Given the description of an element on the screen output the (x, y) to click on. 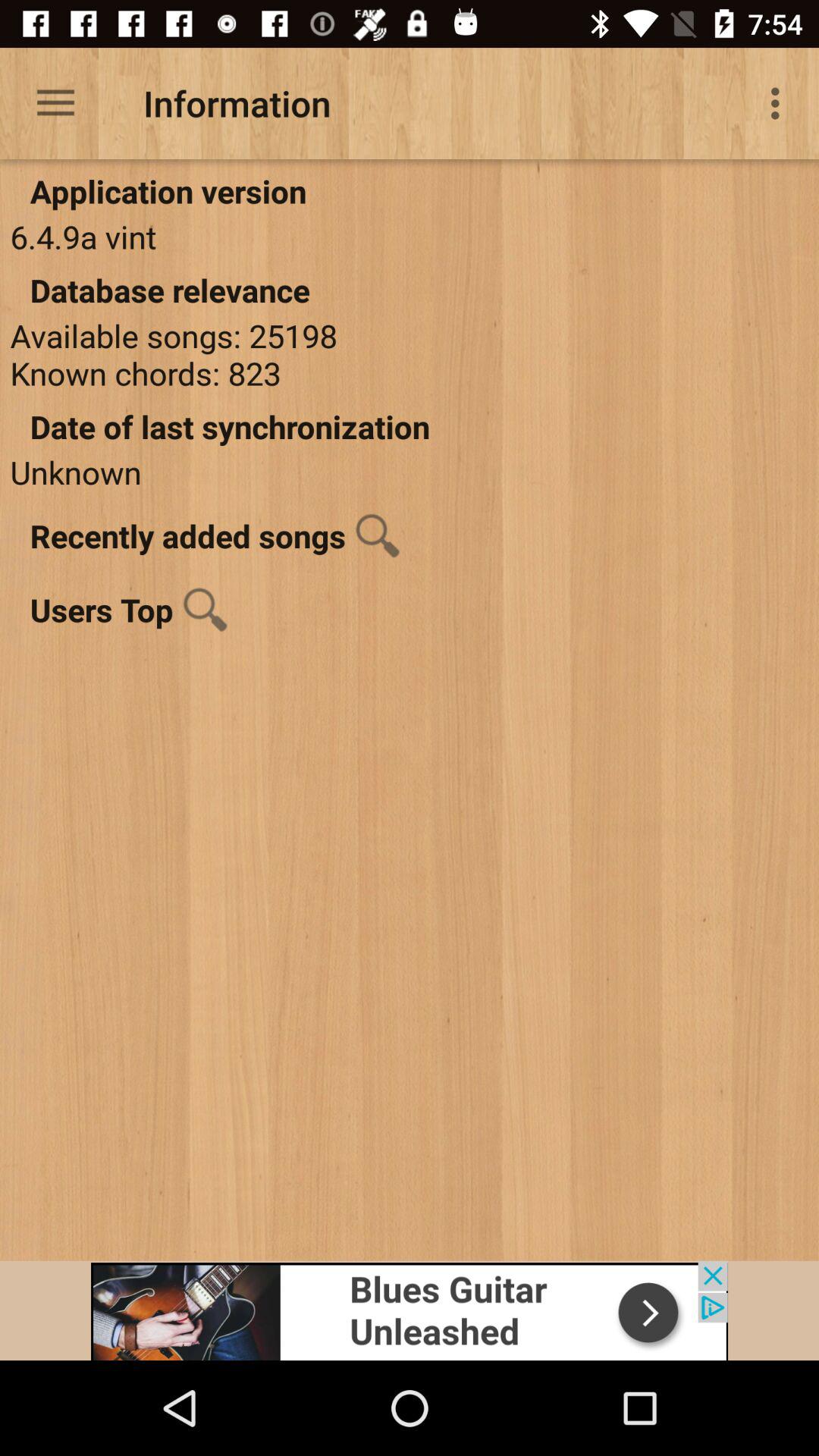
view advertisement (409, 1310)
